Given the description of an element on the screen output the (x, y) to click on. 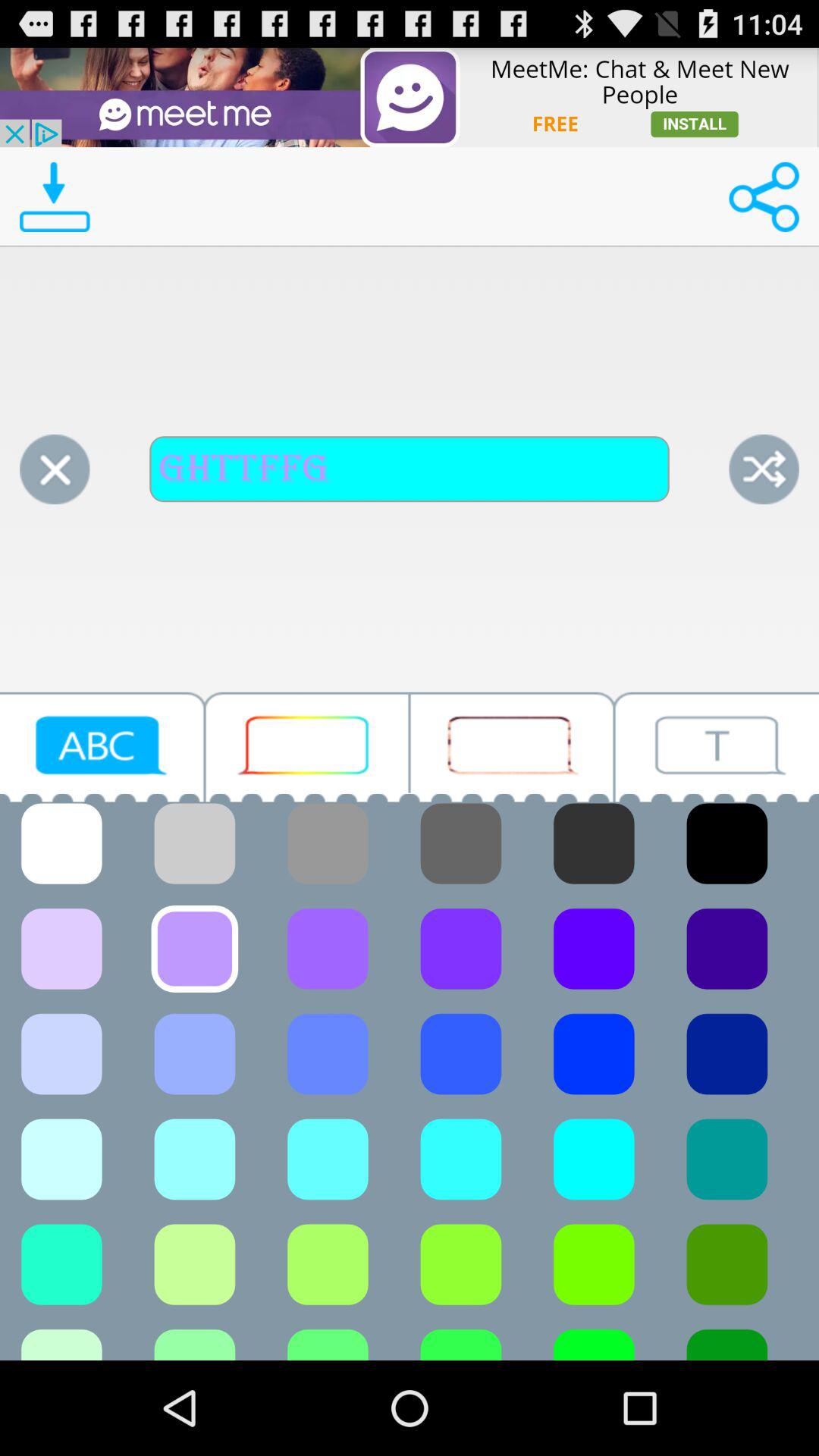
add text (102, 746)
